Given the description of an element on the screen output the (x, y) to click on. 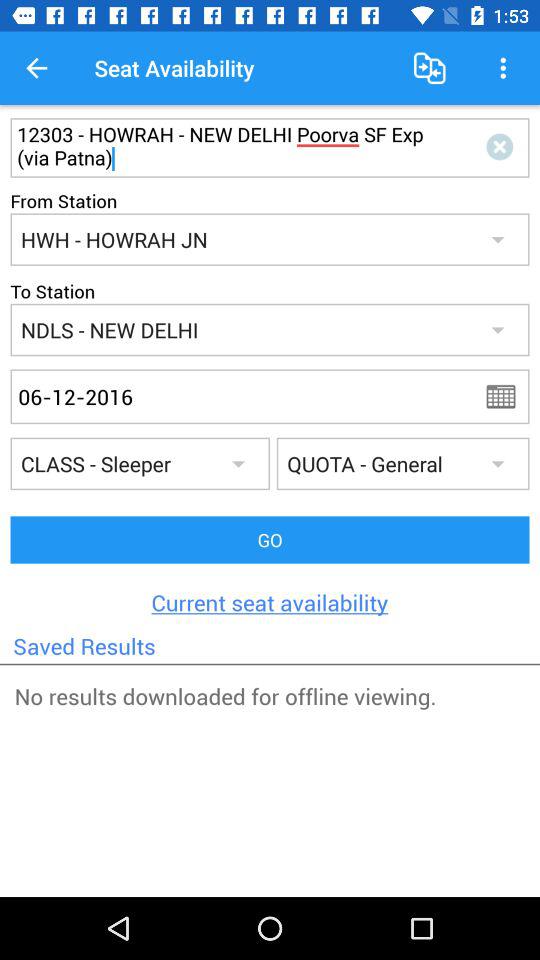
go back (507, 396)
